Given the description of an element on the screen output the (x, y) to click on. 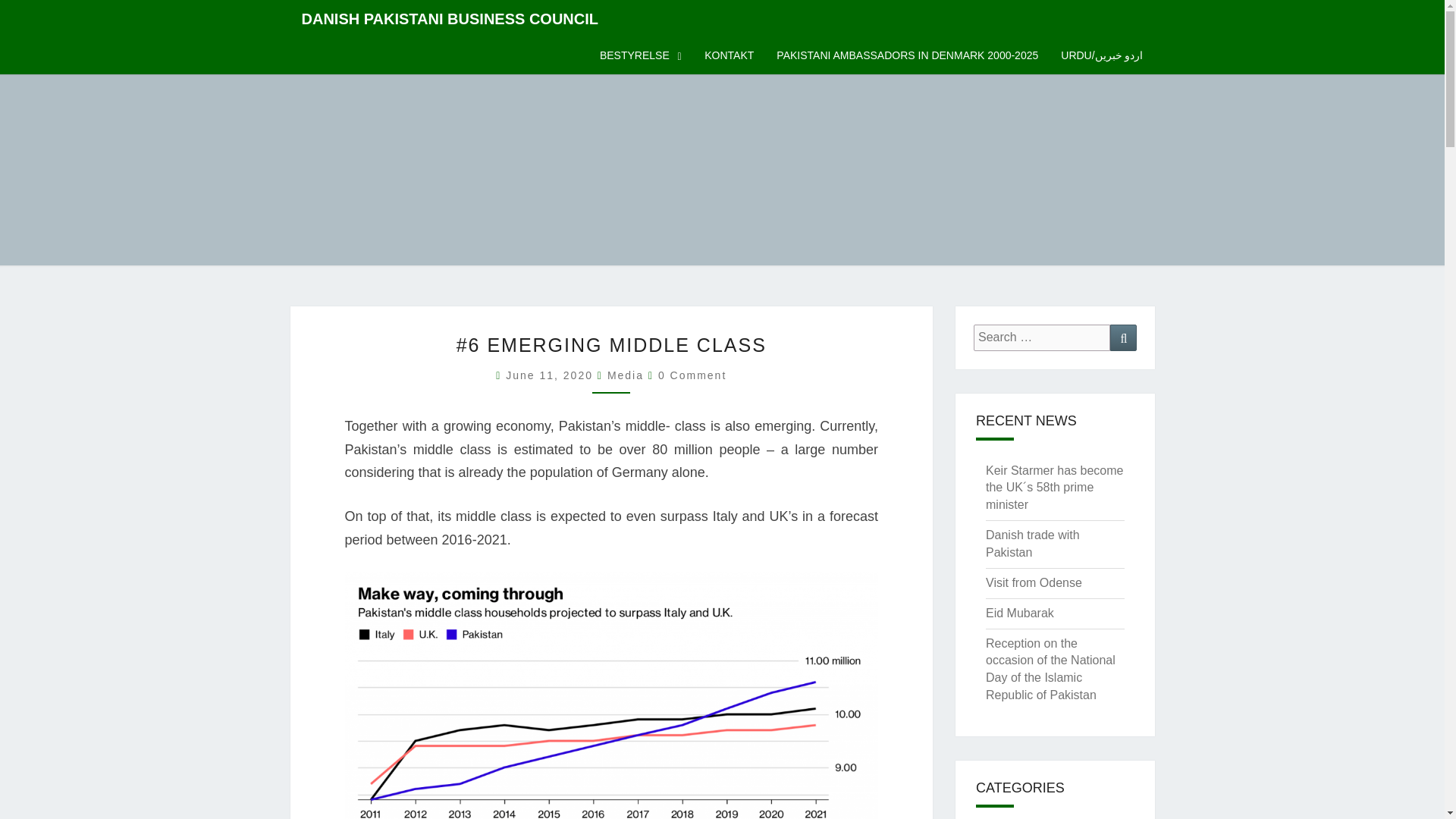
KONTAKT (729, 55)
View all posts by Media (625, 374)
11:44 am (550, 374)
Visit from Odense (1033, 582)
Search (1123, 337)
PAKISTANI AMBASSADORS IN DENMARK 2000-2025 (907, 55)
Eid Mubarak (1019, 612)
DANISH PAKISTANI BUSINESS COUNCIL (449, 18)
0 Comment (692, 374)
Danish trade with Pakistan (1032, 543)
Media (625, 374)
June 11, 2020 (550, 374)
BESTYRELSE (640, 55)
Search for: (1041, 337)
